Given the description of an element on the screen output the (x, y) to click on. 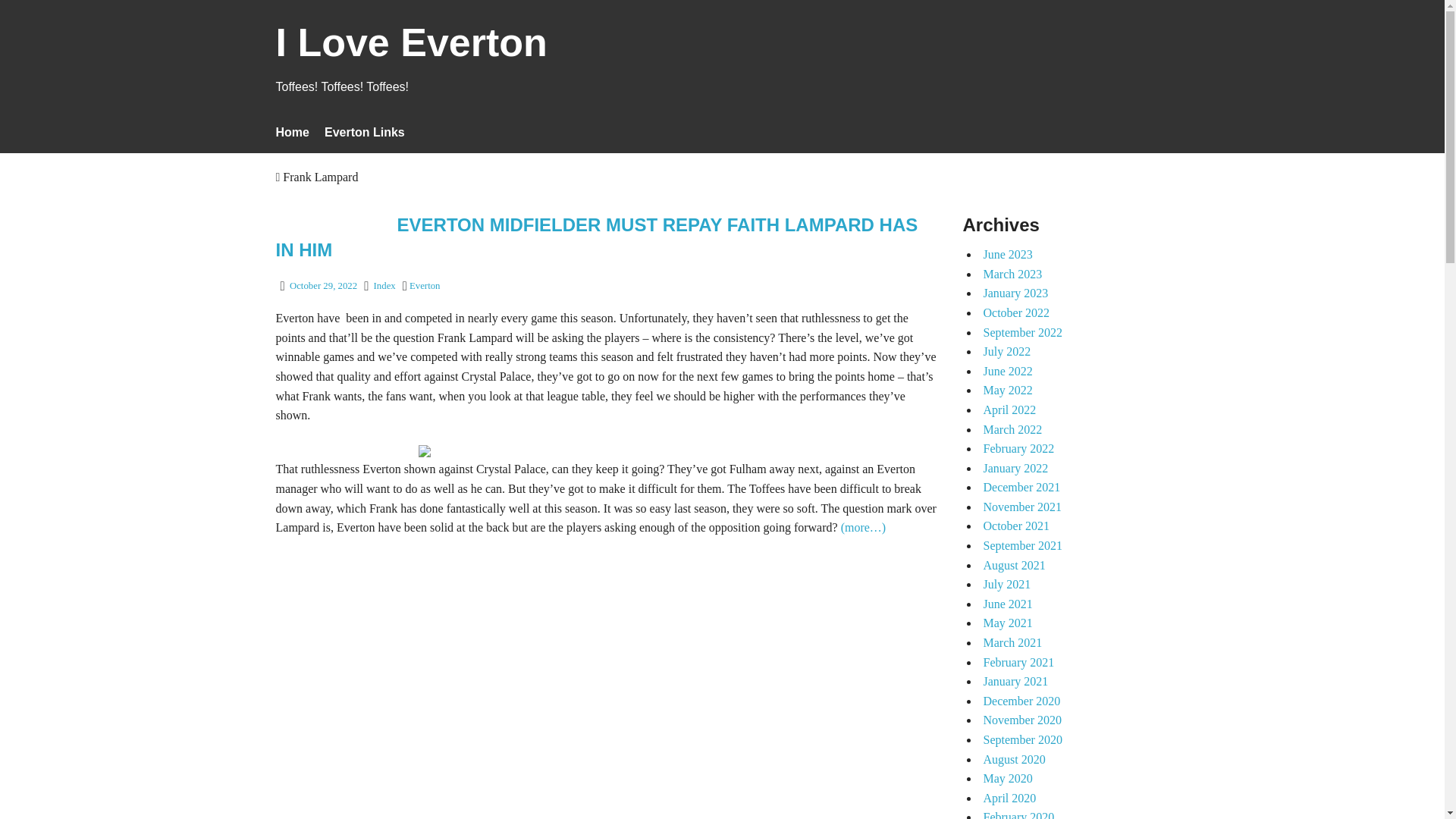
January 2021 (1015, 680)
April 2022 (1008, 409)
November 2021 (1021, 506)
May 2022 (1007, 390)
Index (385, 285)
August 2020 (1013, 758)
May 2021 (1007, 622)
December 2021 (1020, 486)
January 2022 (1015, 468)
February 2022 (1018, 448)
November 2020 (1021, 719)
April 2020 (1008, 797)
July 2022 (1006, 350)
March 2023 (1012, 273)
